Given the description of an element on the screen output the (x, y) to click on. 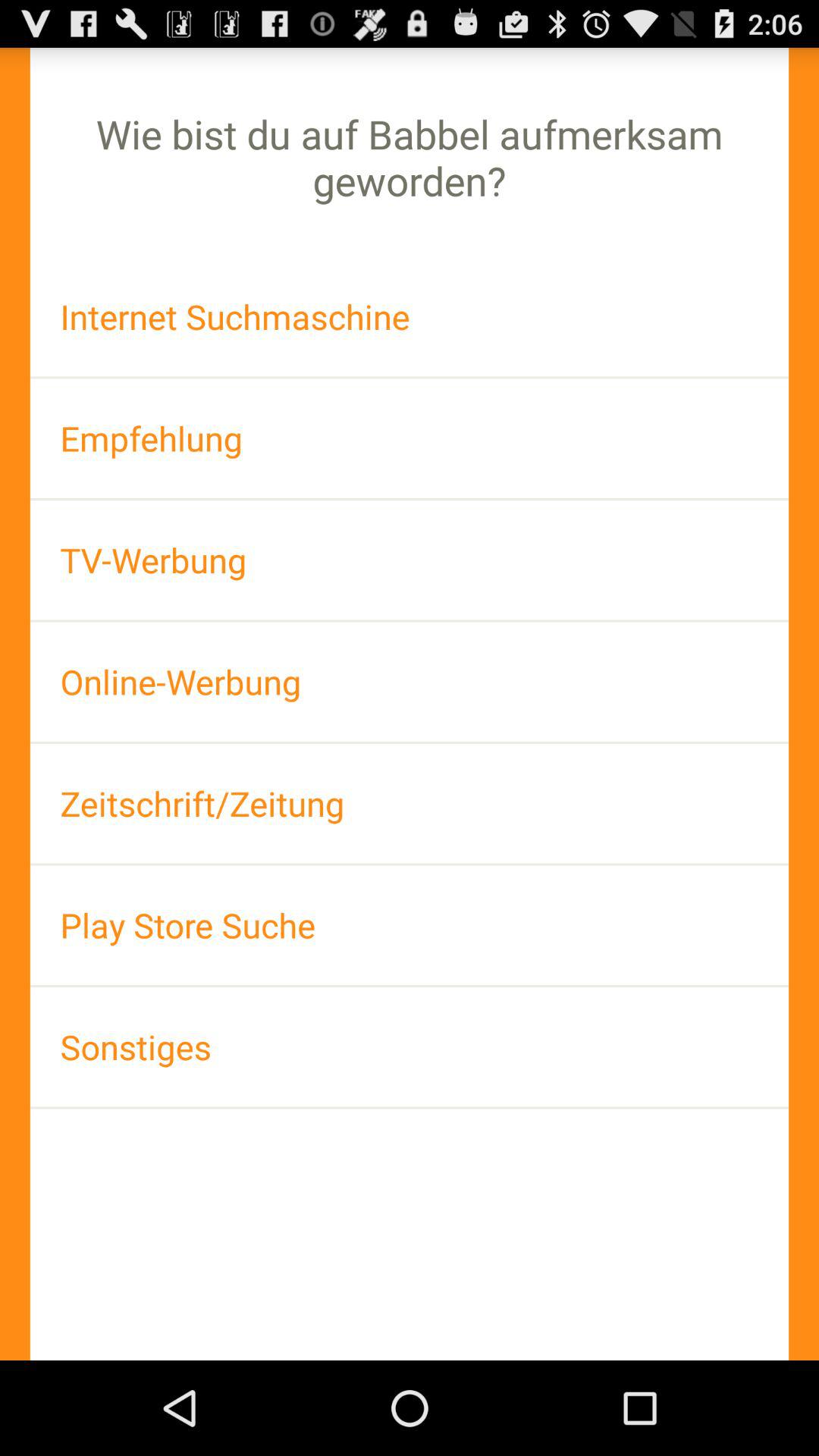
tap app below zeitschrift/zeitung icon (409, 925)
